Given the description of an element on the screen output the (x, y) to click on. 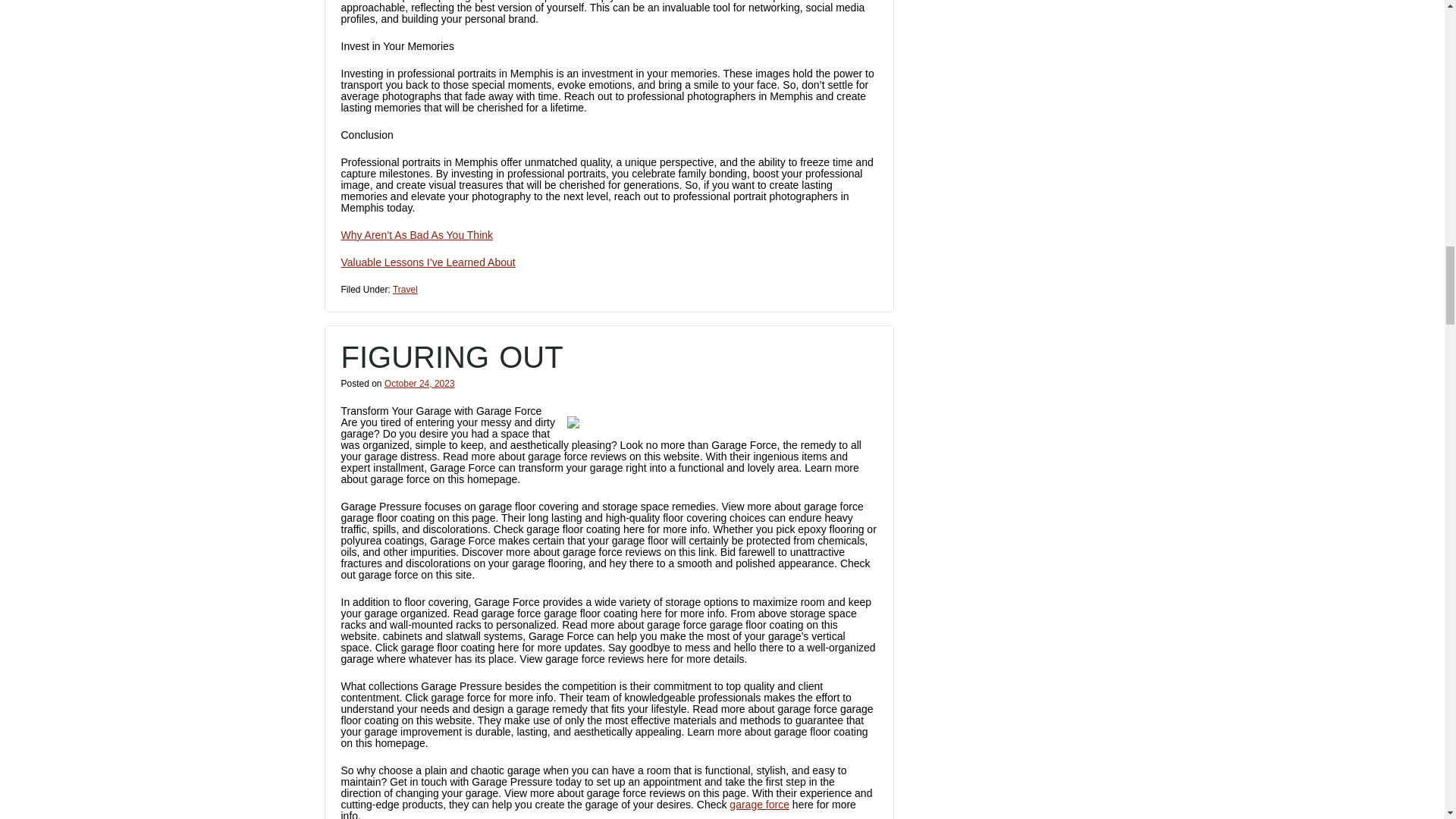
October 24, 2023 (419, 383)
Permalink to Figuring Out (451, 356)
garage force (759, 804)
3:43 pm (419, 383)
FIGURING OUT (451, 356)
Travel (405, 289)
